Given the description of an element on the screen output the (x, y) to click on. 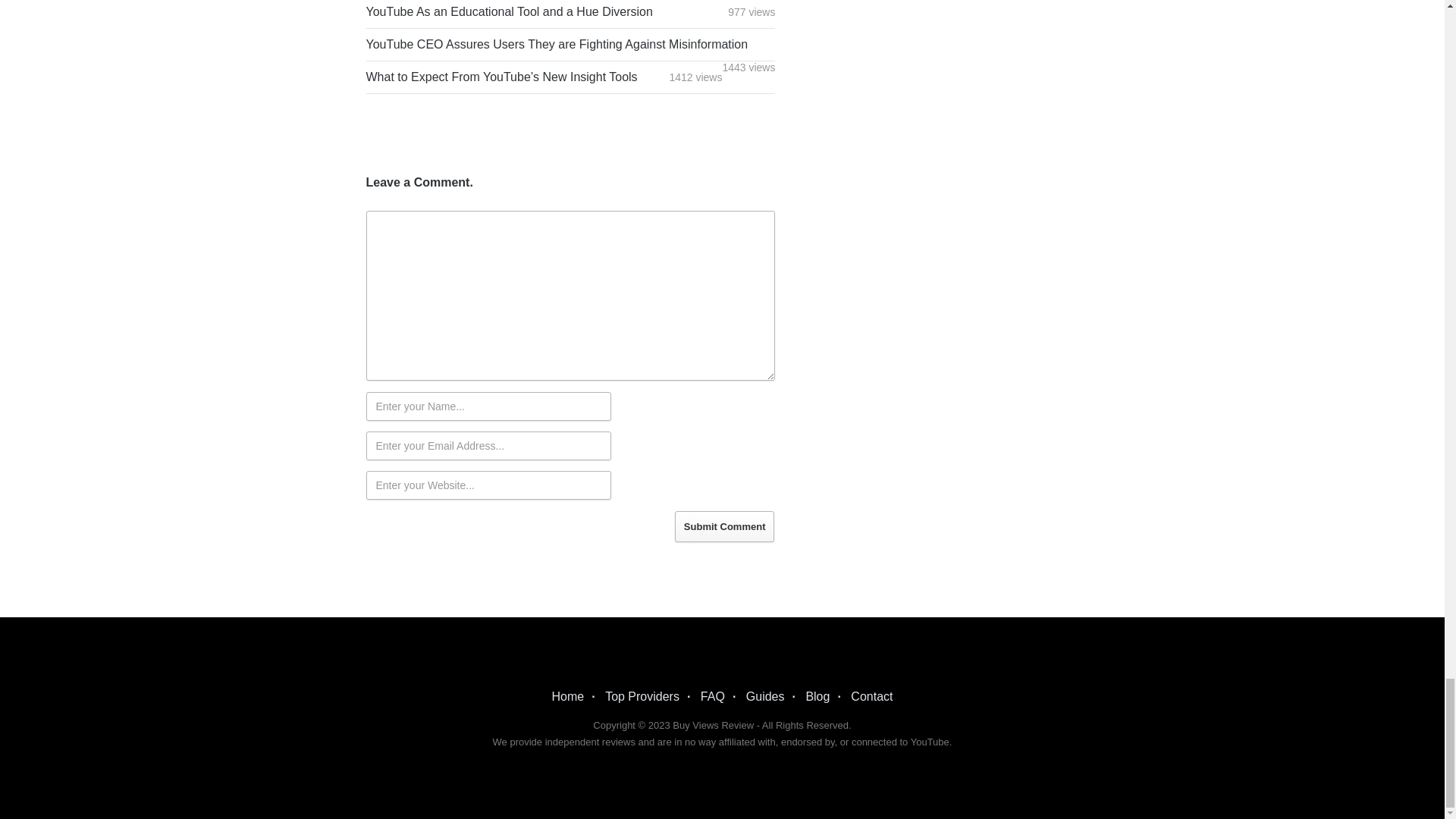
Submit Comment (724, 526)
